Given the description of an element on the screen output the (x, y) to click on. 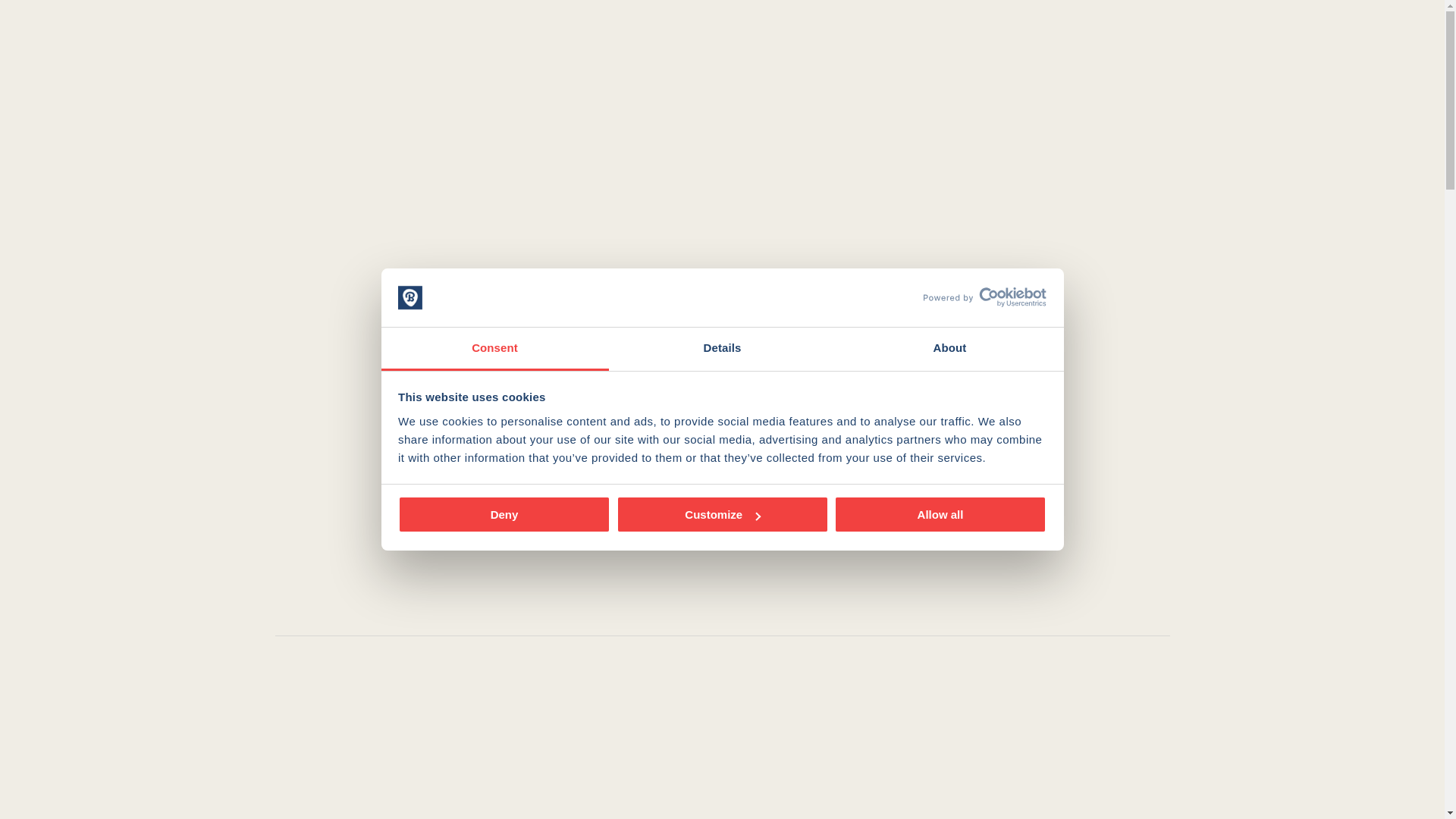
Details Element type: text (721, 348)
Deny Element type: text (504, 514)
Allow all Element type: text (940, 514)
Consent Element type: text (494, 348)
Customize Element type: text (721, 514)
About Element type: text (949, 348)
